Given the description of an element on the screen output the (x, y) to click on. 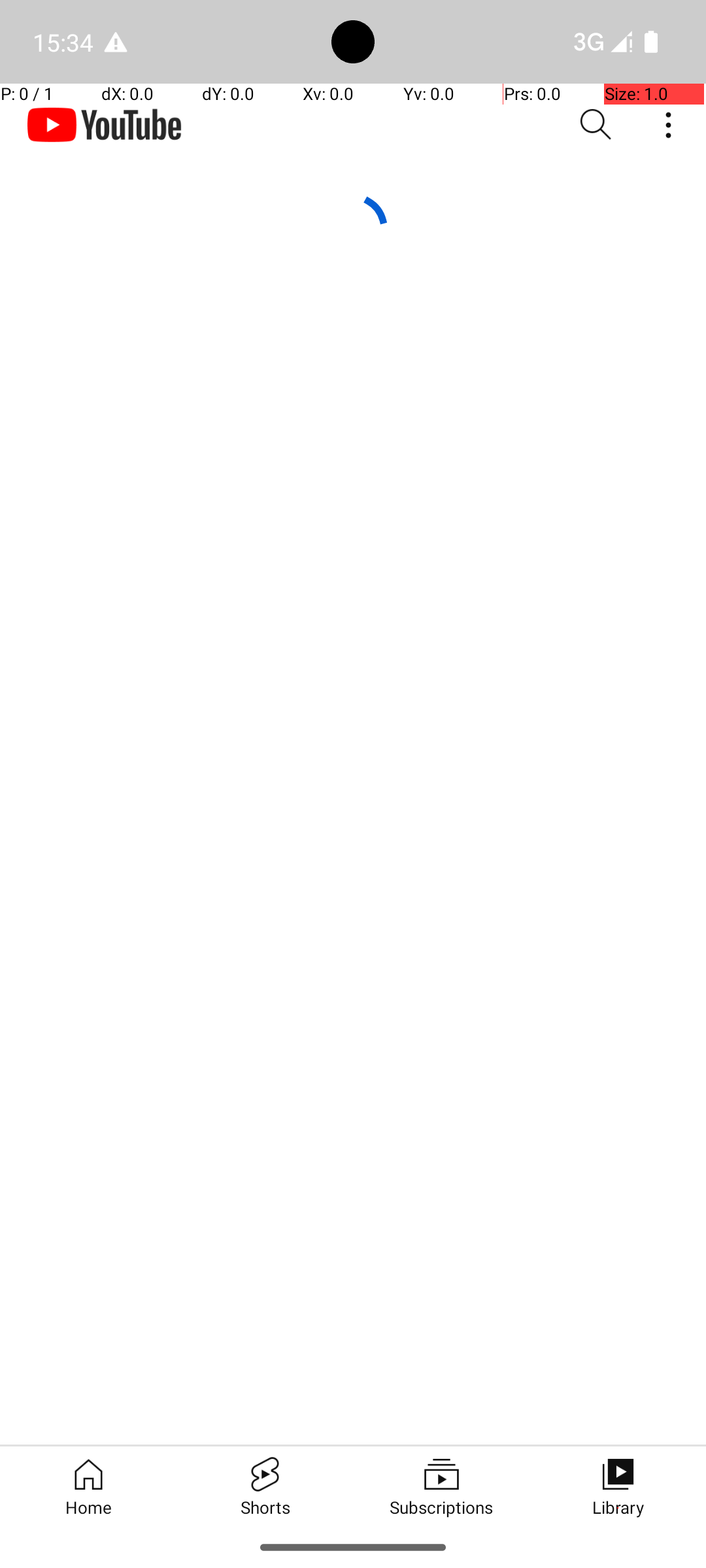
Shorts Element type: android.widget.Button (264, 1485)
Subscriptions Element type: android.widget.Button (441, 1485)
Library Element type: android.widget.Button (617, 1485)
